Given the description of an element on the screen output the (x, y) to click on. 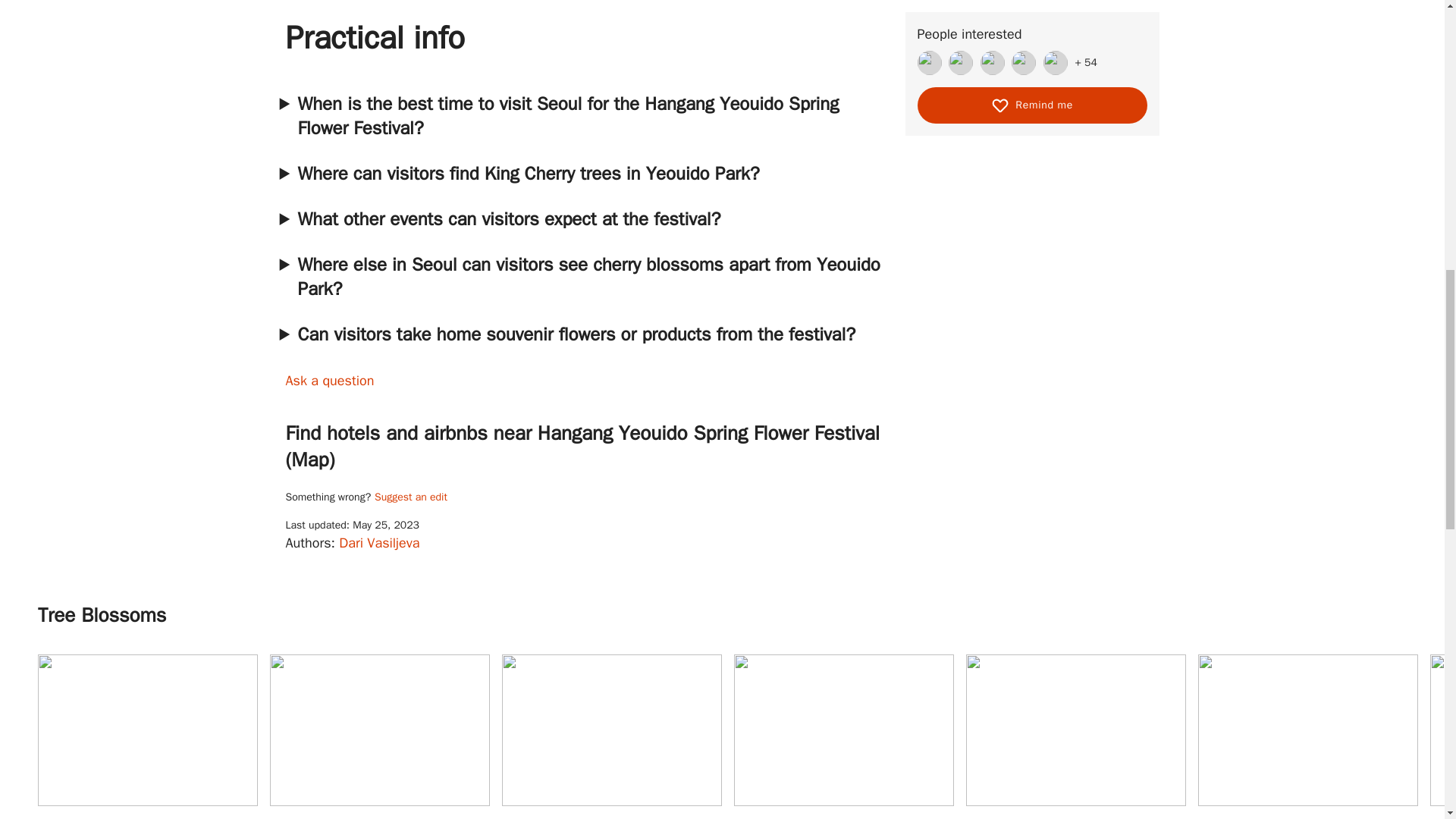
Dari Vasiljeva (379, 542)
Suggest an edit (379, 736)
Ask a question (410, 497)
